Given the description of an element on the screen output the (x, y) to click on. 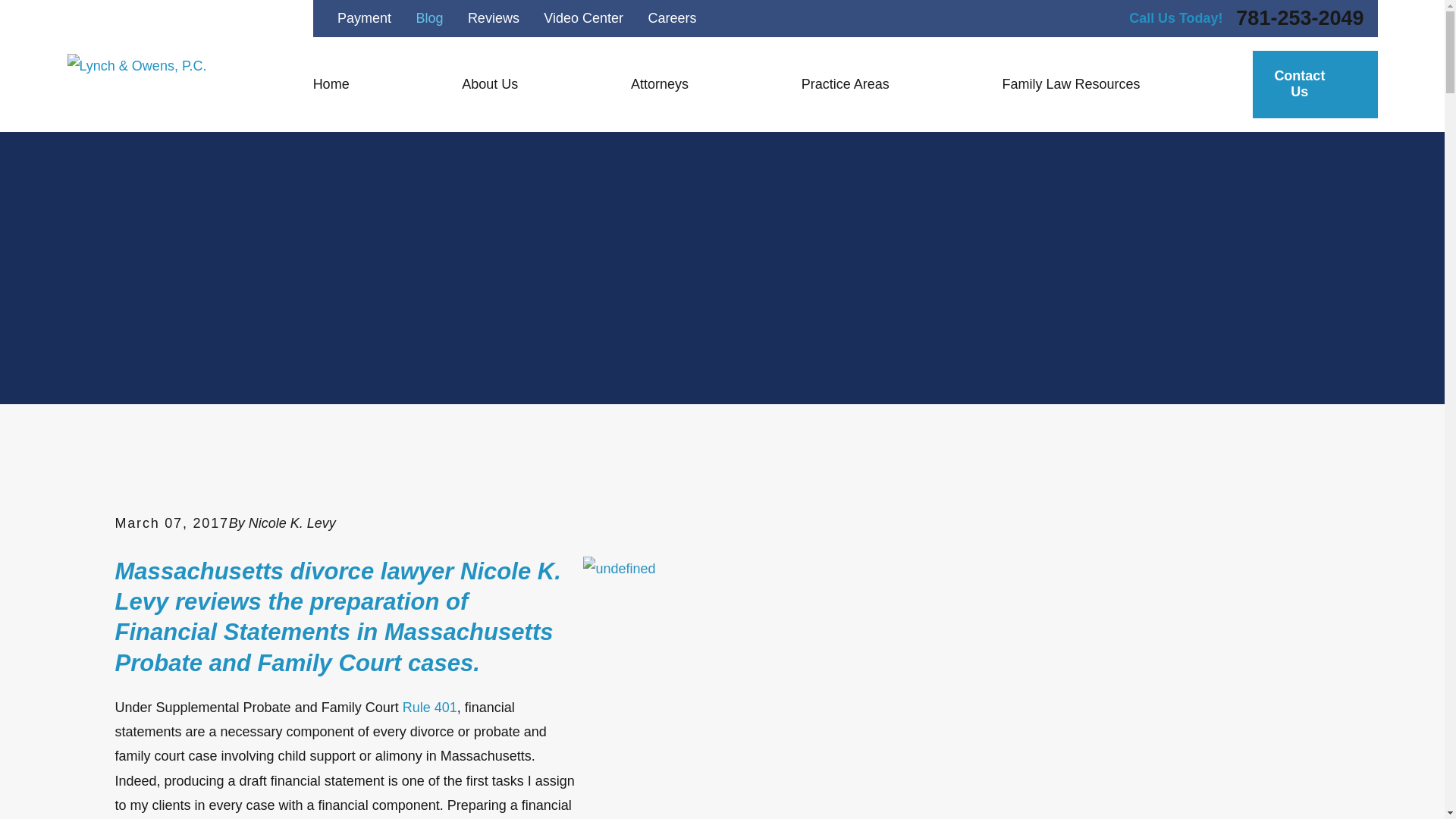
About Us (526, 83)
Reviews (493, 17)
Family Law Resources (1107, 83)
Attorneys (696, 83)
Blog (428, 17)
Payment (364, 17)
Practice Areas (882, 83)
781-253-2049 (1299, 18)
Home (136, 65)
Careers (671, 17)
Video Center (583, 17)
Home (369, 83)
